Given the description of an element on the screen output the (x, y) to click on. 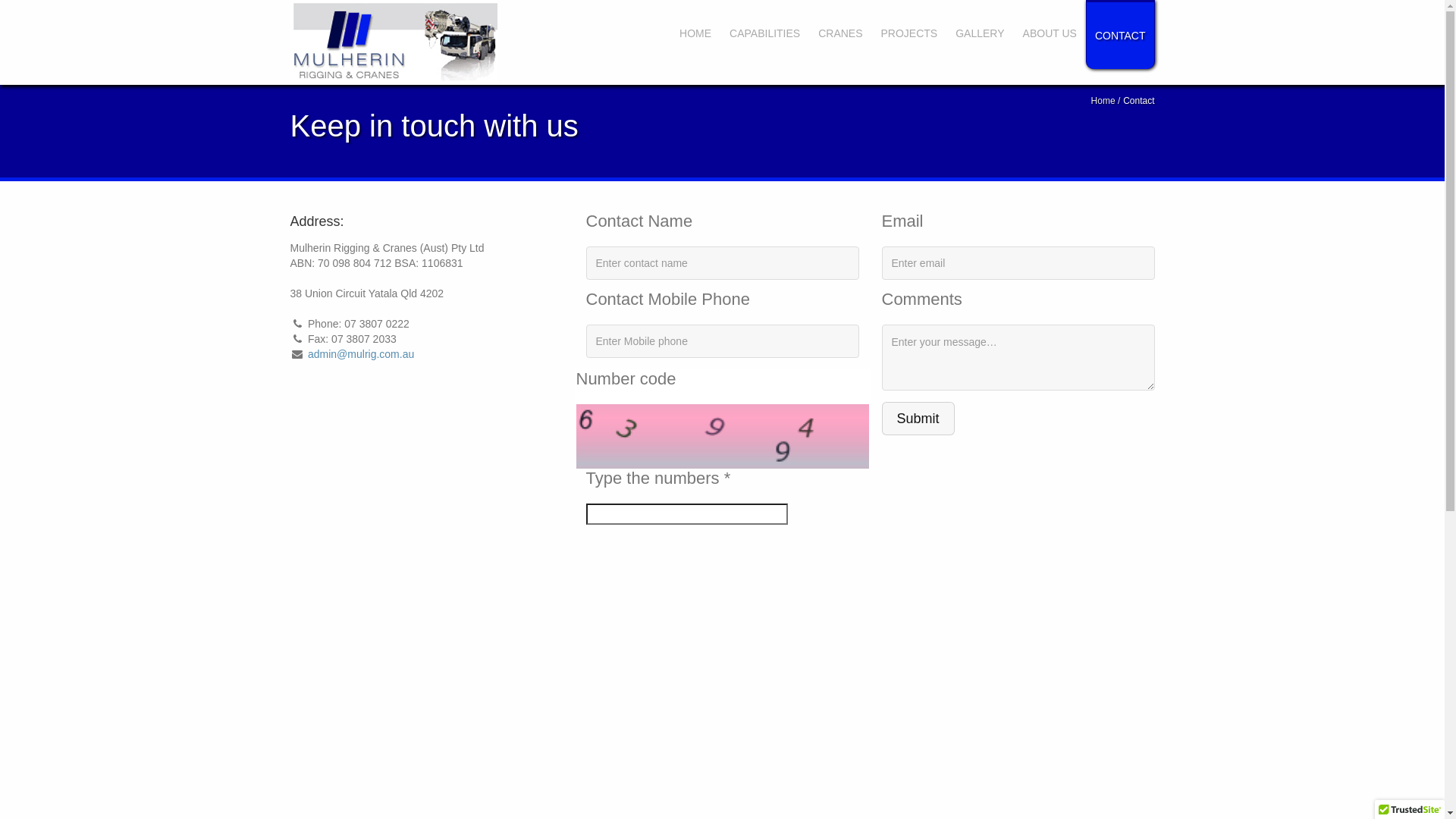
Home Element type: text (1105, 100)
Please enter a valid mobile number (at least 10 characters) Element type: hover (721, 340)
Submit Element type: text (917, 418)
CONTACT Element type: text (1119, 34)
Please enter your message (at least 10 characters) Element type: hover (1017, 357)
HOME Element type: text (695, 33)
GALLERY Element type: text (979, 33)
PROJECTS Element type: text (909, 33)
Please enter a valid email address Element type: hover (1017, 262)
Please enter your contact name (at least 2 characters) Element type: hover (721, 262)
ABOUT US Element type: text (1049, 33)
CAPABILITIES Element type: text (764, 33)
admin@mulrig.com.au Element type: text (360, 354)
CRANES Element type: text (840, 33)
